Given the description of an element on the screen output the (x, y) to click on. 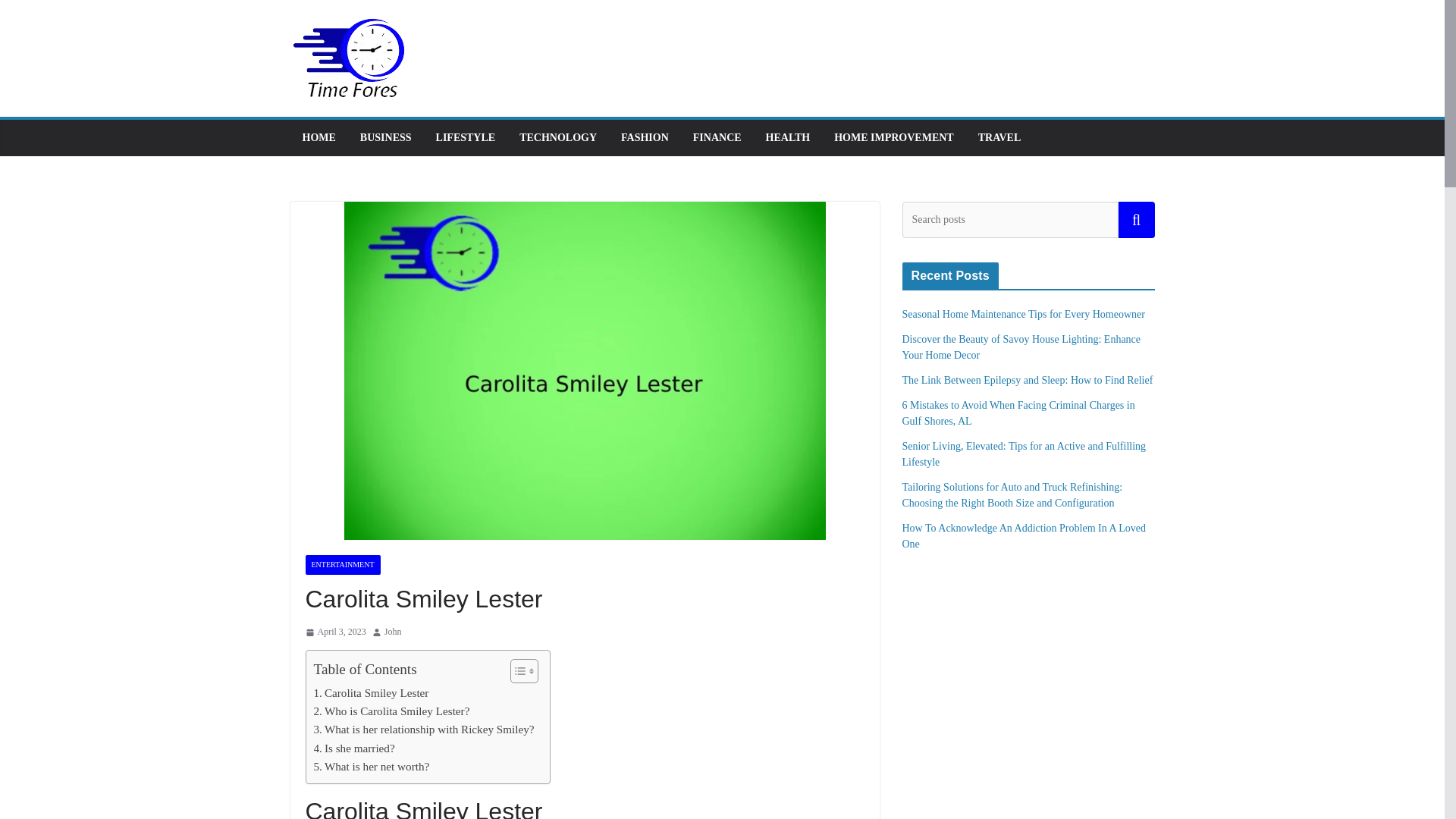
Is she married? (354, 748)
Carolita Smiley Lester (371, 692)
FASHION (644, 137)
HEALTH (787, 137)
Is she married? (354, 748)
What is her relationship with Rickey Smiley? (424, 729)
What is her net worth? (371, 766)
What is her relationship with Rickey Smiley? (424, 729)
FINANCE (717, 137)
BUSINESS (385, 137)
